Given the description of an element on the screen output the (x, y) to click on. 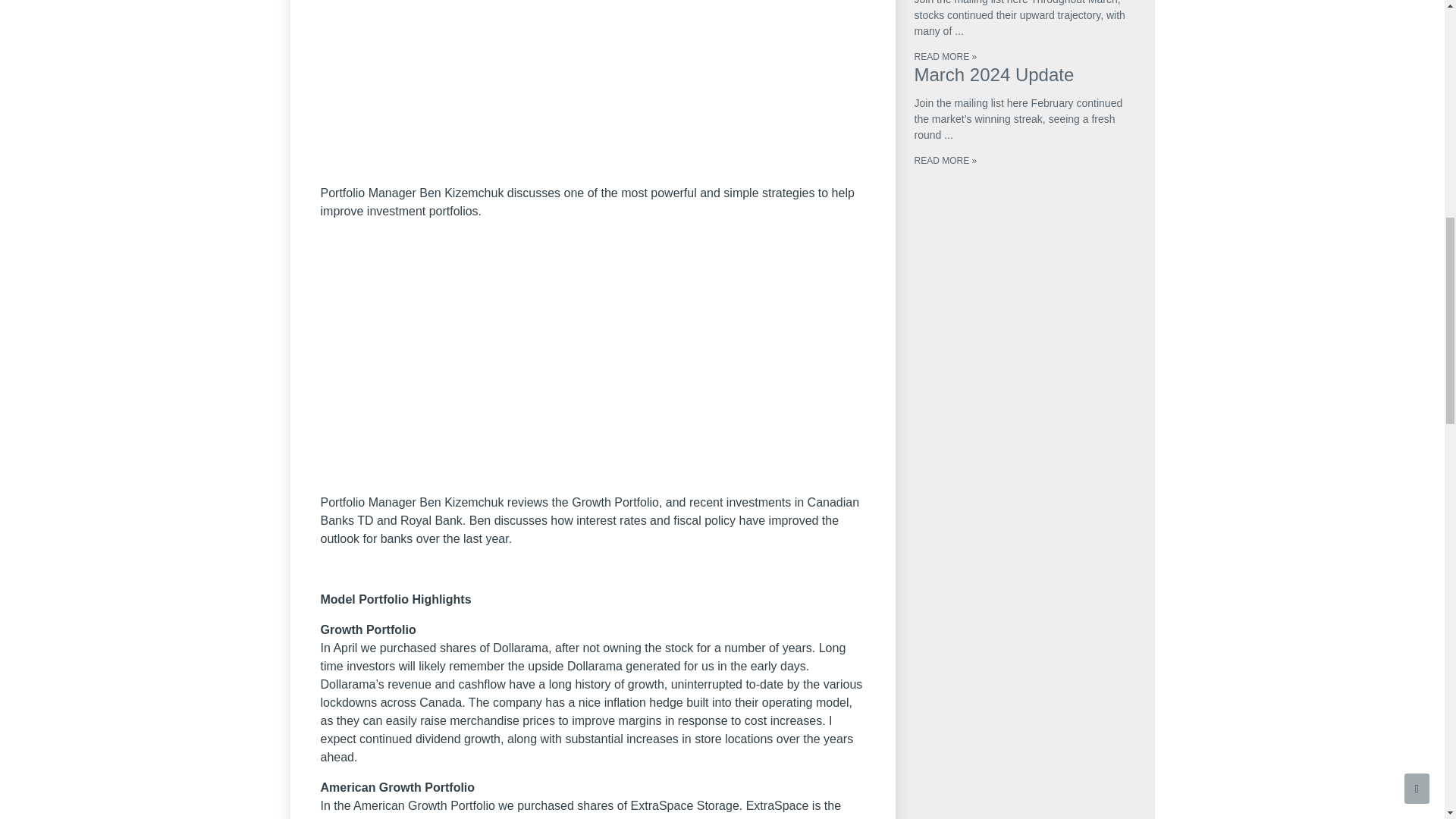
March 2024 Update (994, 74)
